Given the description of an element on the screen output the (x, y) to click on. 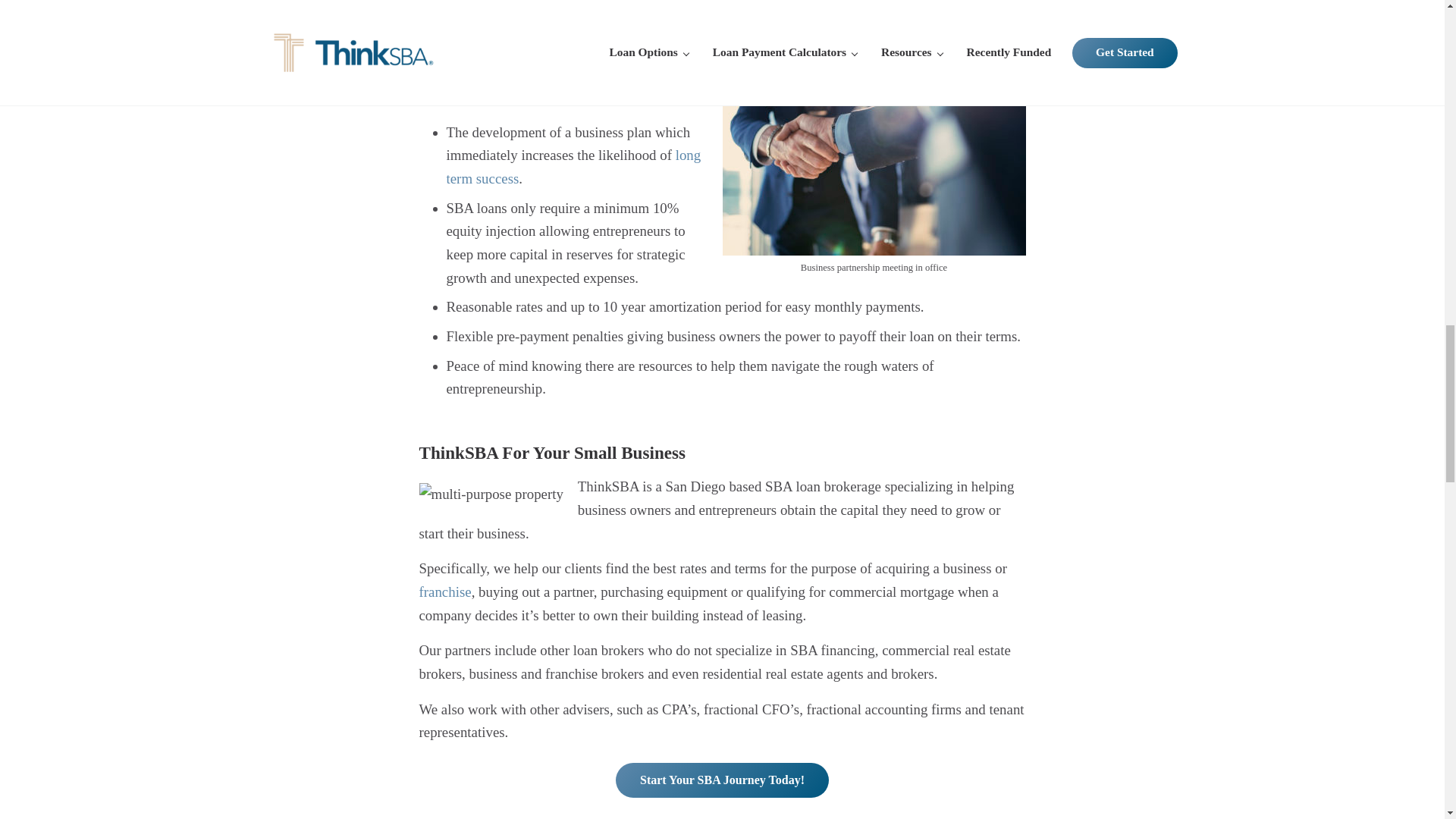
long term success (572, 166)
Start Your SBA Journey Today! (721, 779)
franchise (444, 591)
